Given the description of an element on the screen output the (x, y) to click on. 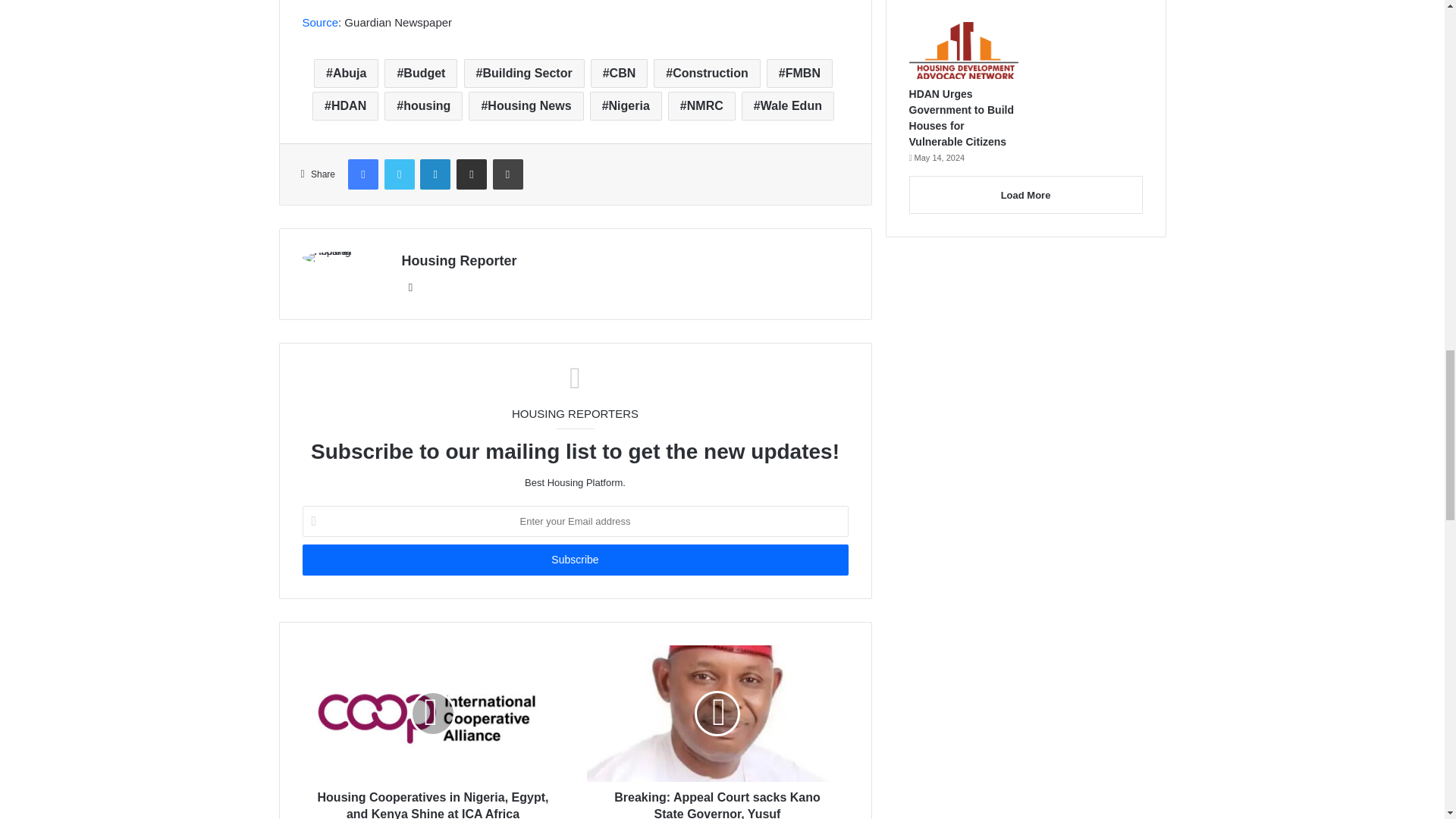
Abuja (346, 72)
Construction (706, 72)
Housing News (525, 105)
FMBN (799, 72)
CBN (619, 72)
Budget (420, 72)
housing (423, 105)
Source (319, 21)
Building Sector (524, 72)
Subscribe (574, 559)
HDAN (345, 105)
